Given the description of an element on the screen output the (x, y) to click on. 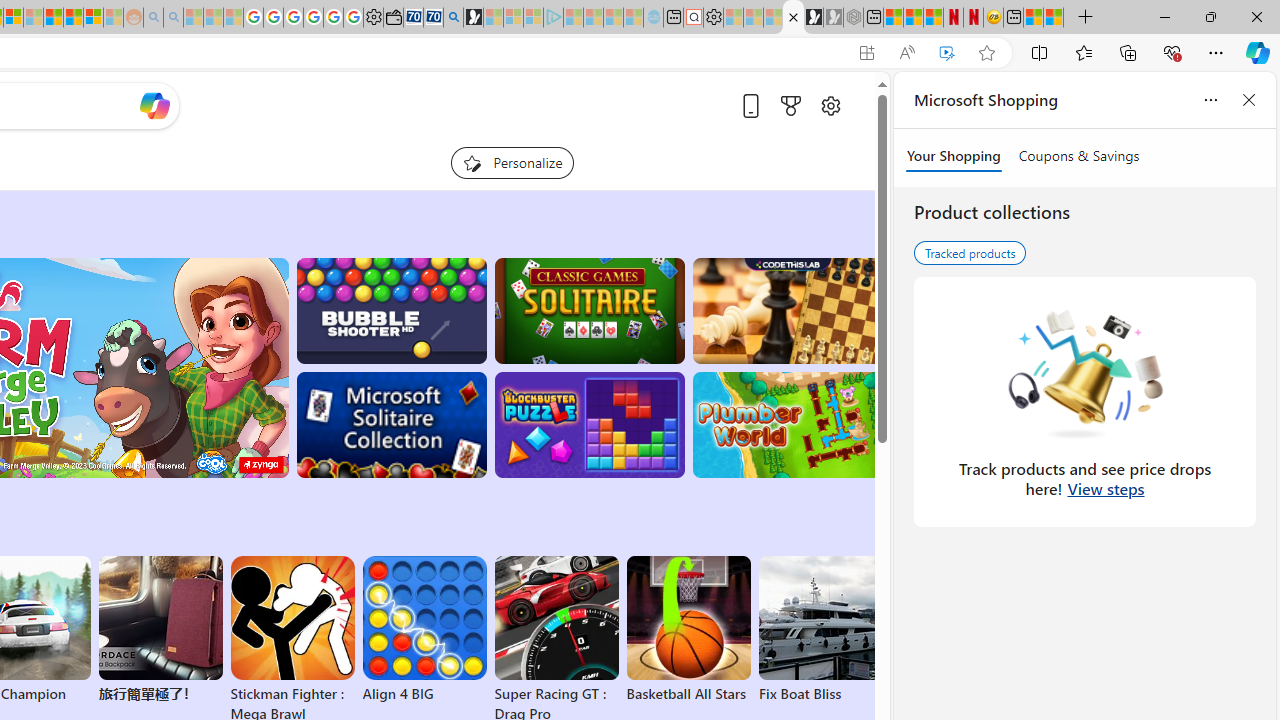
Bing Real Estate - Home sales and rental listings (453, 17)
